Given the description of an element on the screen output the (x, y) to click on. 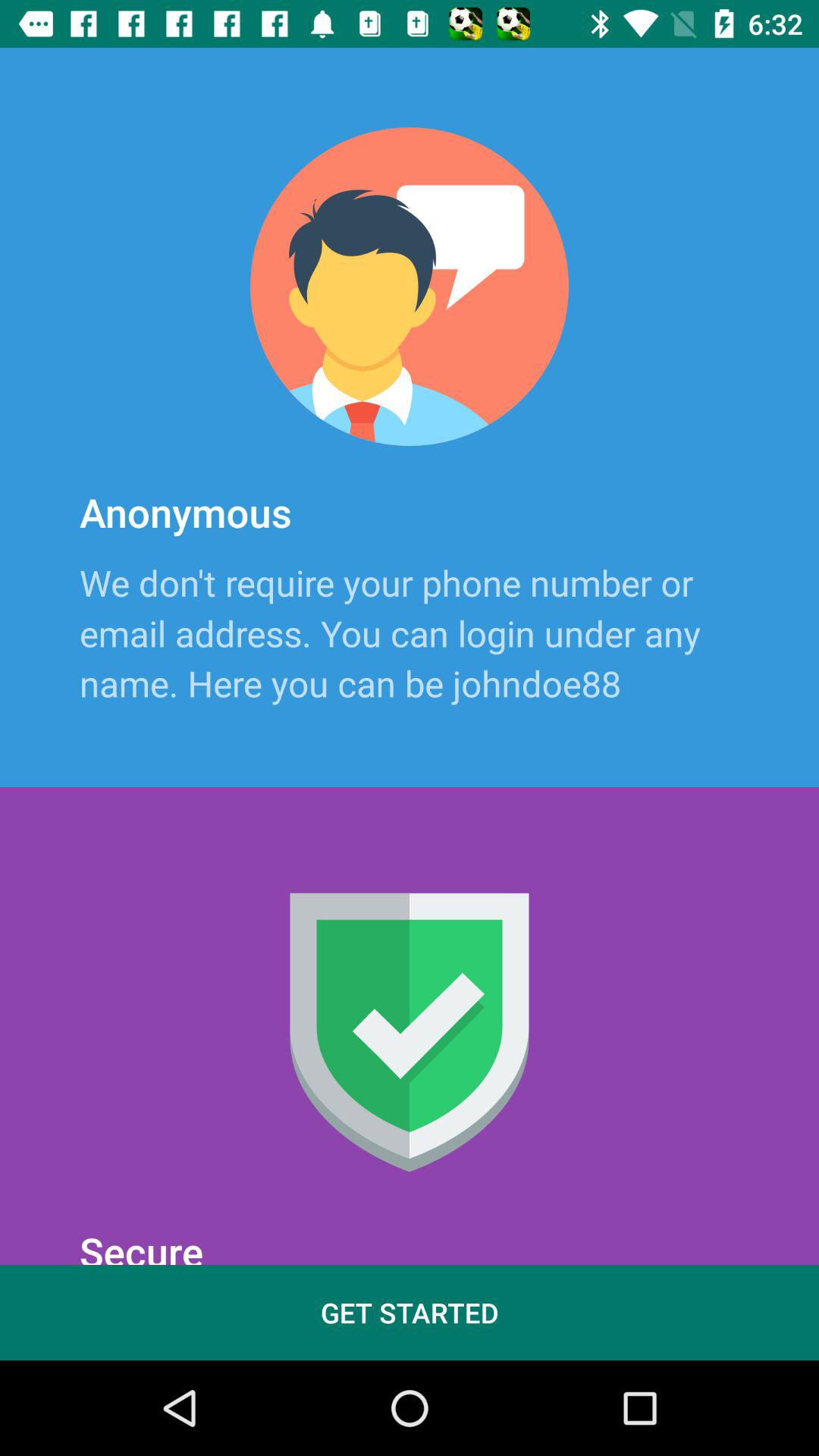
turn on item below the secure (409, 1312)
